Given the description of an element on the screen output the (x, y) to click on. 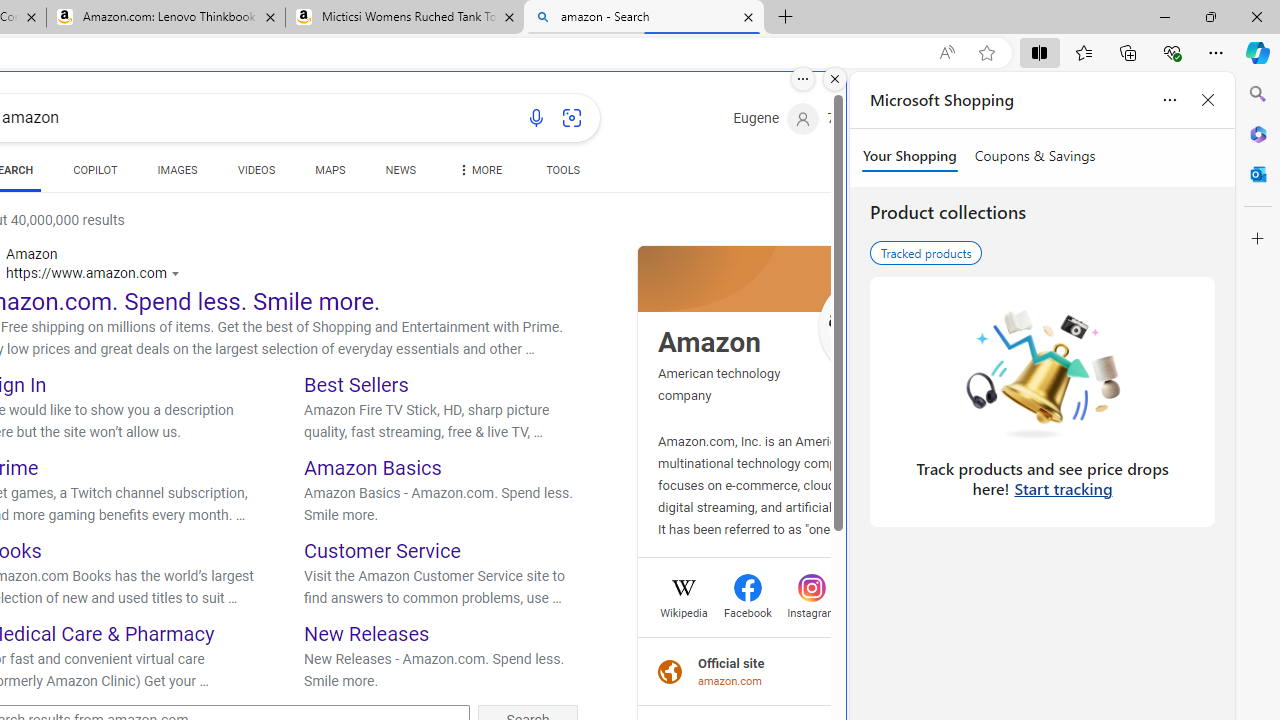
Customer Service (382, 550)
Customize (1258, 239)
Search using an image (572, 117)
See more images of Amazon (868, 328)
TOOLS (562, 173)
Class: spl_logobg (785, 278)
MAPS (330, 170)
Facebook (747, 610)
TOOLS (562, 170)
American technology company (718, 384)
Actions for this site (178, 273)
VIDEOS (256, 173)
MORE (478, 173)
